Given the description of an element on the screen output the (x, y) to click on. 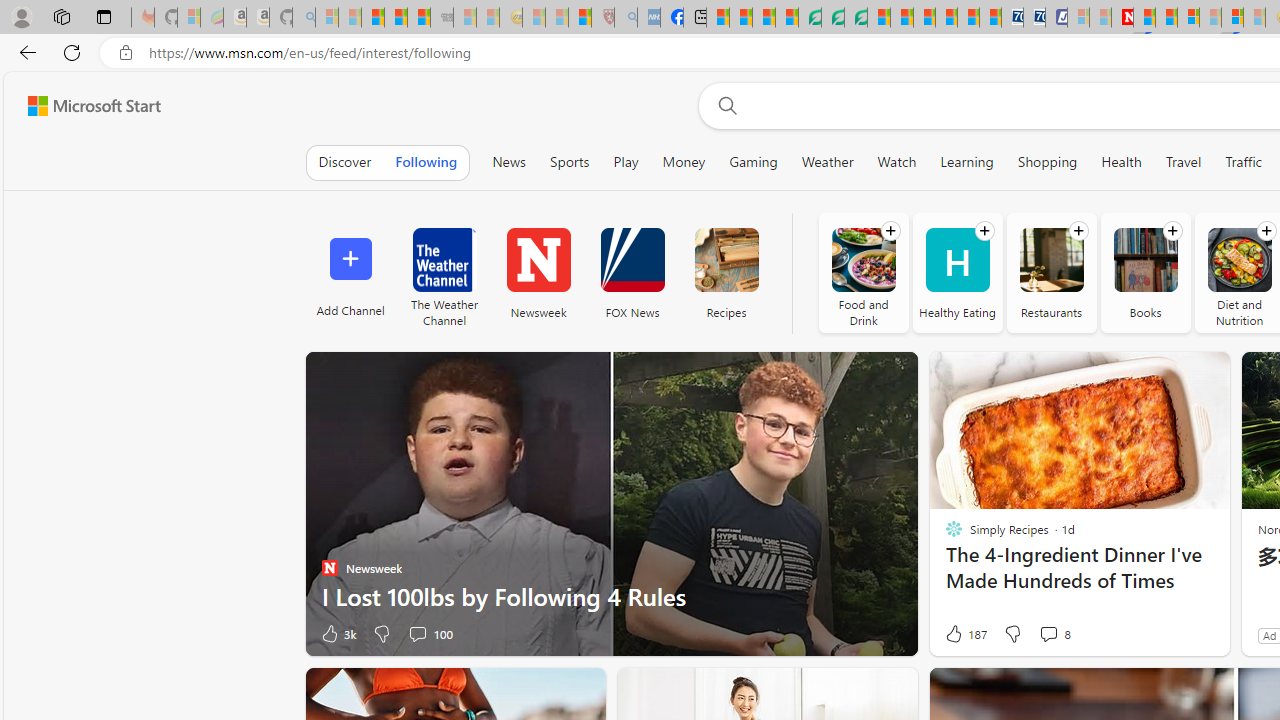
Cheap Car Rentals - Save70.com (1012, 17)
FOX News (632, 260)
View comments 8 Comment (1054, 633)
Restaurants (1051, 260)
Add Channel (349, 272)
